Given the description of an element on the screen output the (x, y) to click on. 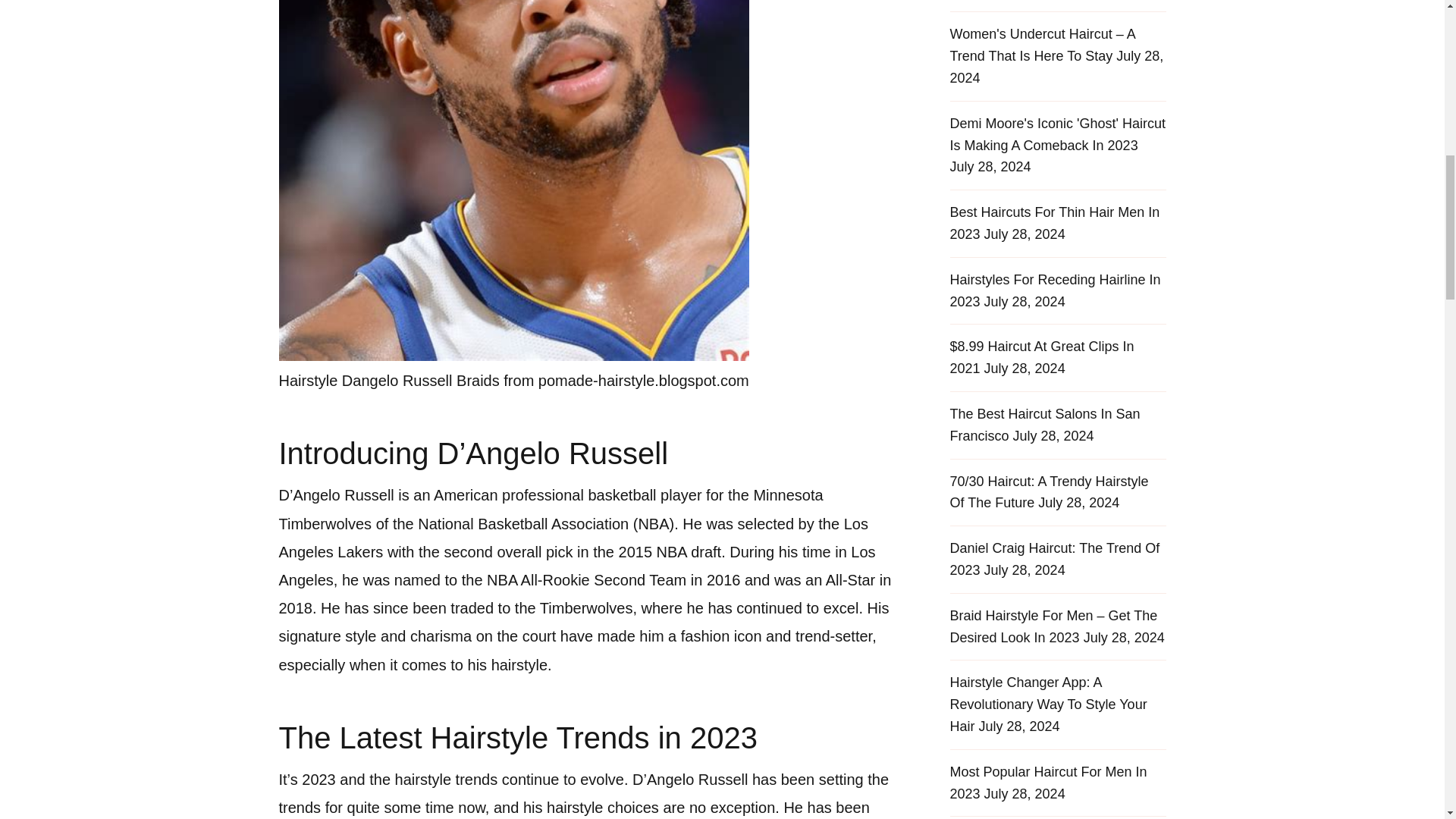
Daniel Craig Haircut: The Trend Of 2023 (1053, 559)
Best Haircuts For Thin Hair Men In 2023 (1053, 222)
The Best Haircut Salons In San Francisco (1044, 424)
Hairstyles For Receding Hairline In 2023 (1054, 290)
